Given the description of an element on the screen output the (x, y) to click on. 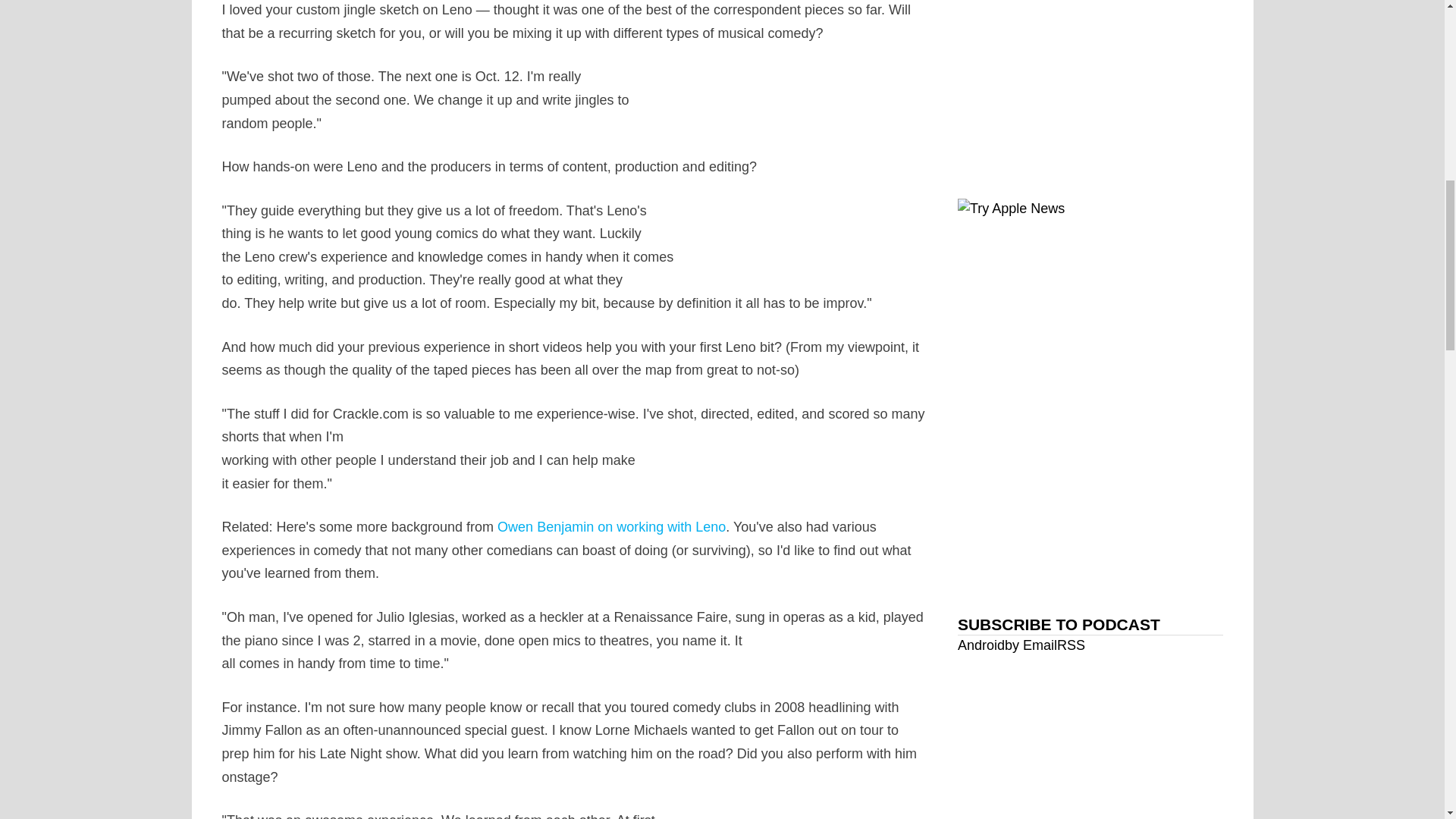
Subscribe on Android (981, 645)
Owen Benjamin on working with Leno (611, 526)
Subscribe by Email (1030, 645)
Subscribe via RSS (1070, 645)
